Given the description of an element on the screen output the (x, y) to click on. 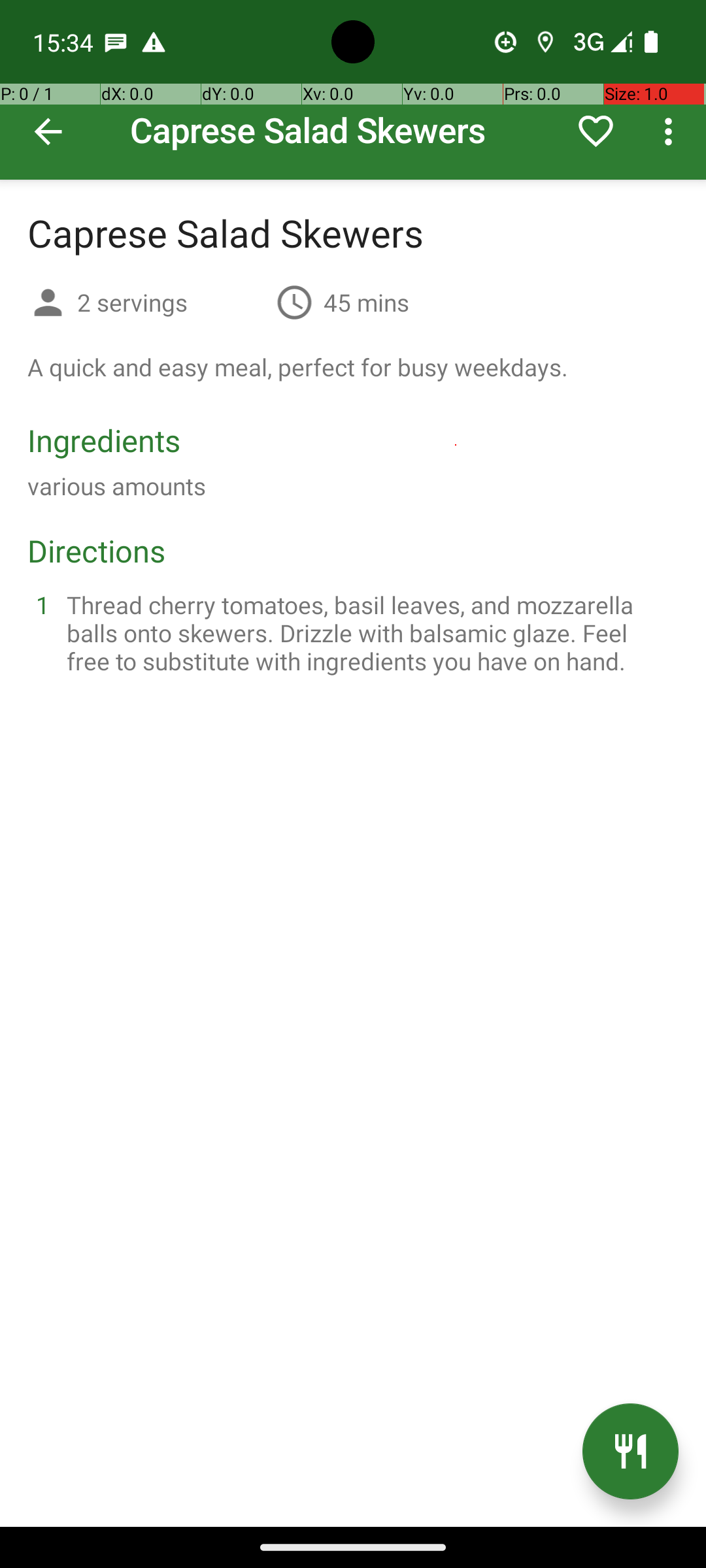
Thread cherry tomatoes, basil leaves, and mozzarella balls onto skewers. Drizzle with balsamic glaze. Feel free to substitute with ingredients you have on hand. Element type: android.widget.TextView (368, 632)
